Given the description of an element on the screen output the (x, y) to click on. 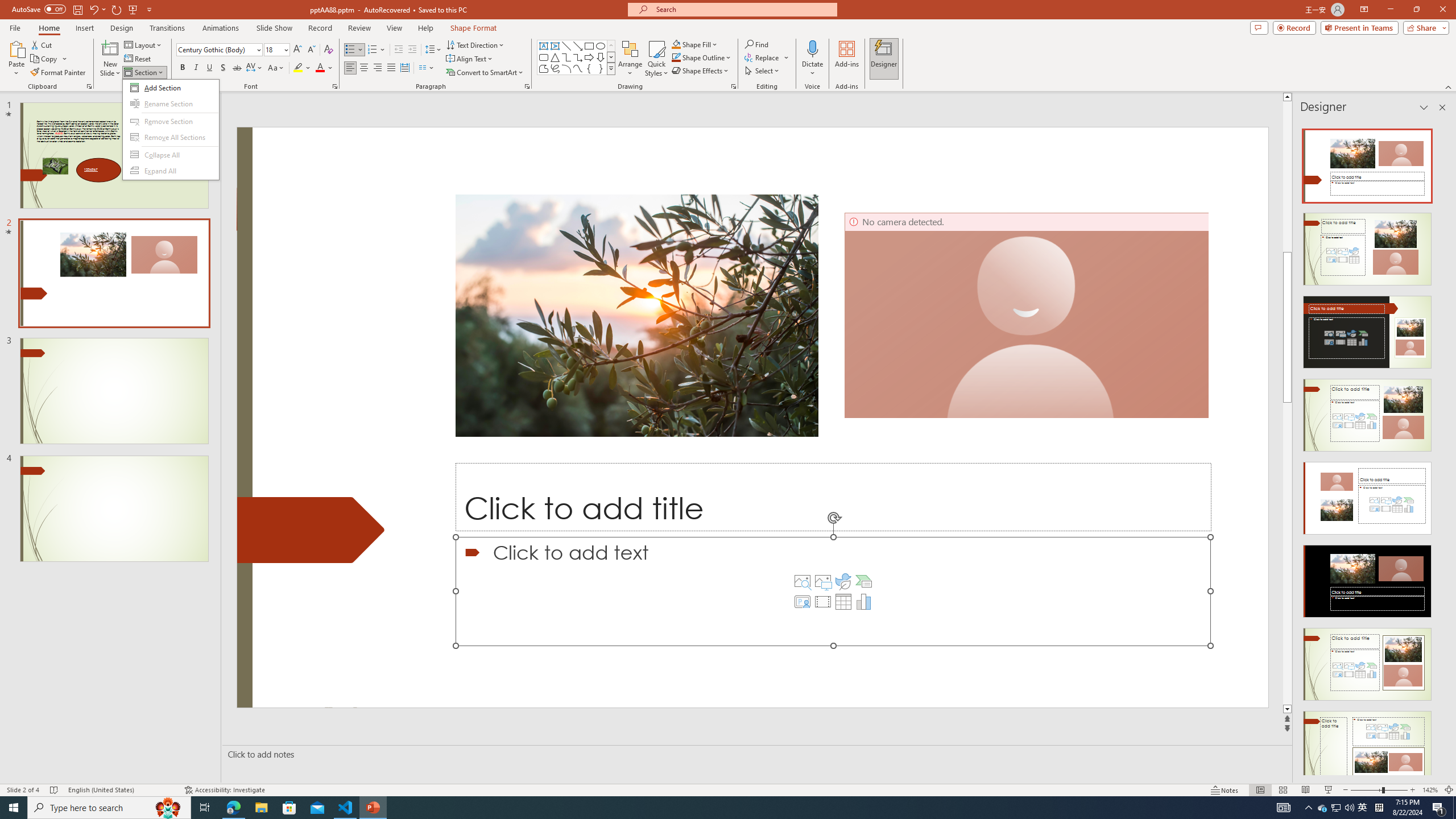
Shape Fill Aqua, Accent 2 (675, 44)
